Given the description of an element on the screen output the (x, y) to click on. 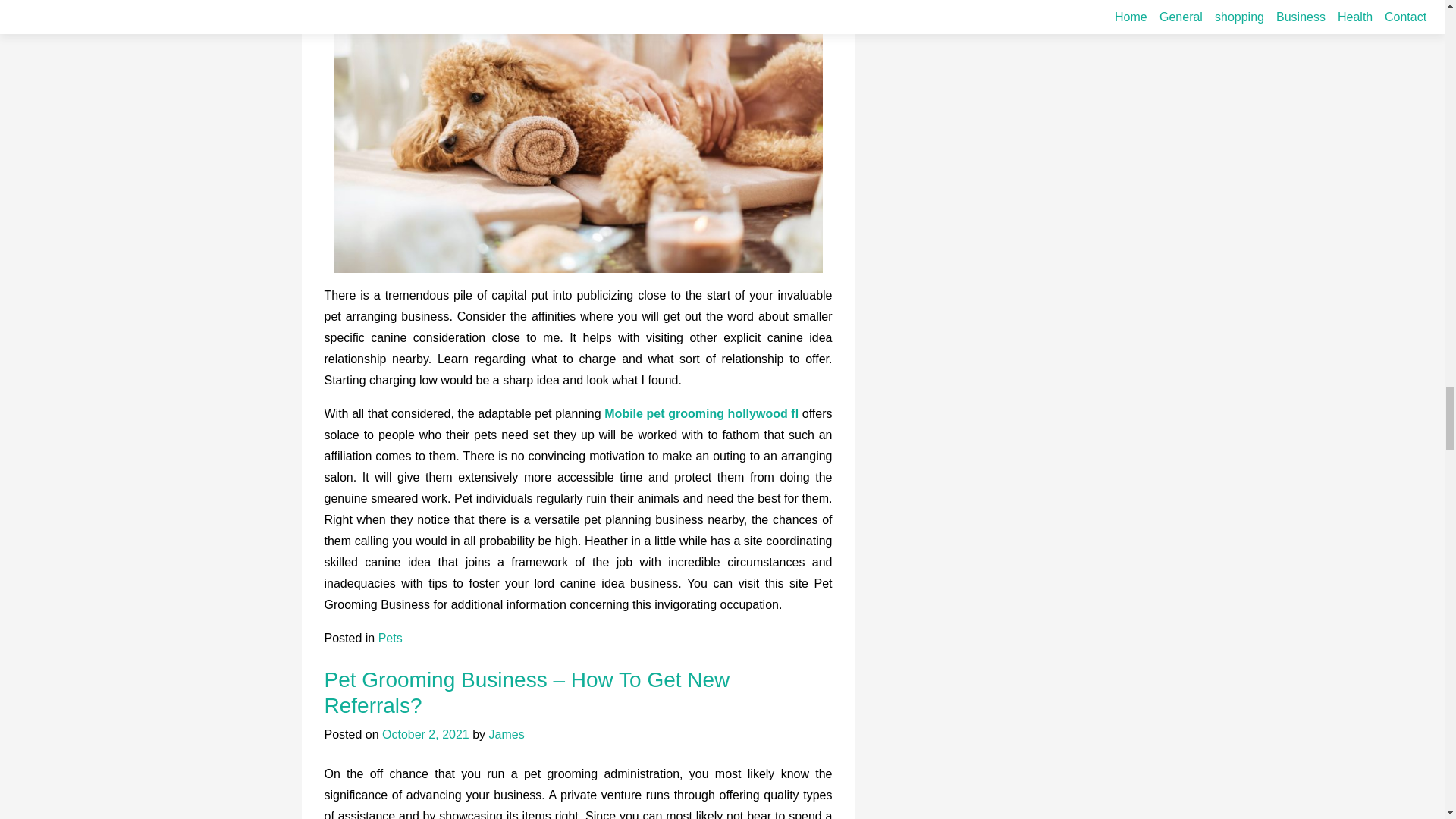
October 2, 2021 (424, 734)
James (506, 734)
Mobile pet grooming hollywood fl (700, 413)
Pets (390, 637)
